Given the description of an element on the screen output the (x, y) to click on. 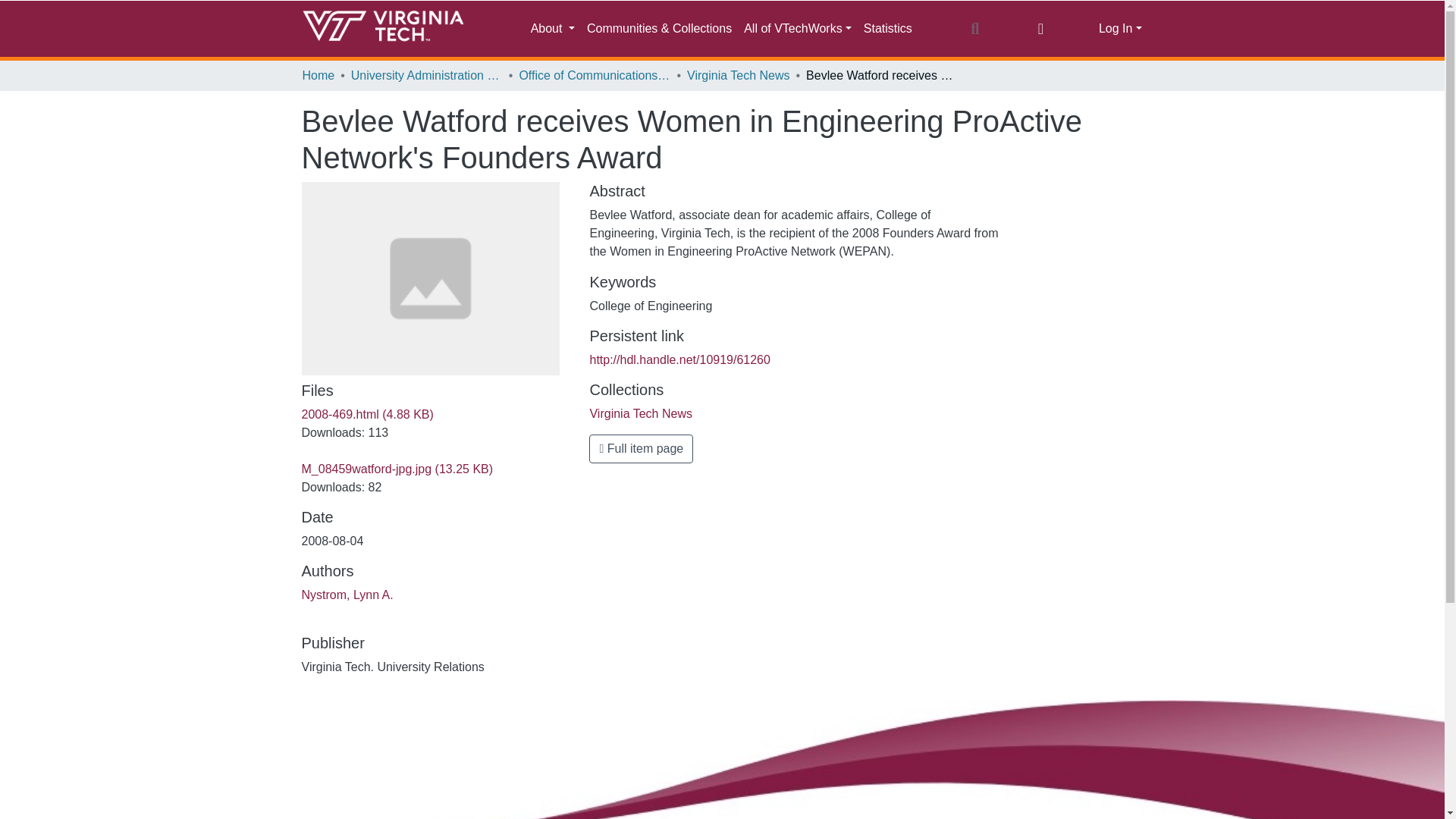
Office of Communications and Marketing (593, 75)
Full item page (641, 448)
Statistics (887, 28)
Virginia Tech News (640, 413)
Virginia Tech News (738, 75)
Statistics (887, 28)
Language switch (1039, 28)
Log In (1119, 28)
About (552, 28)
Home (317, 75)
Search (974, 28)
University Administration and Governance (426, 75)
Nystrom, Lynn A. (347, 594)
All of VTechWorks (797, 28)
